Given the description of an element on the screen output the (x, y) to click on. 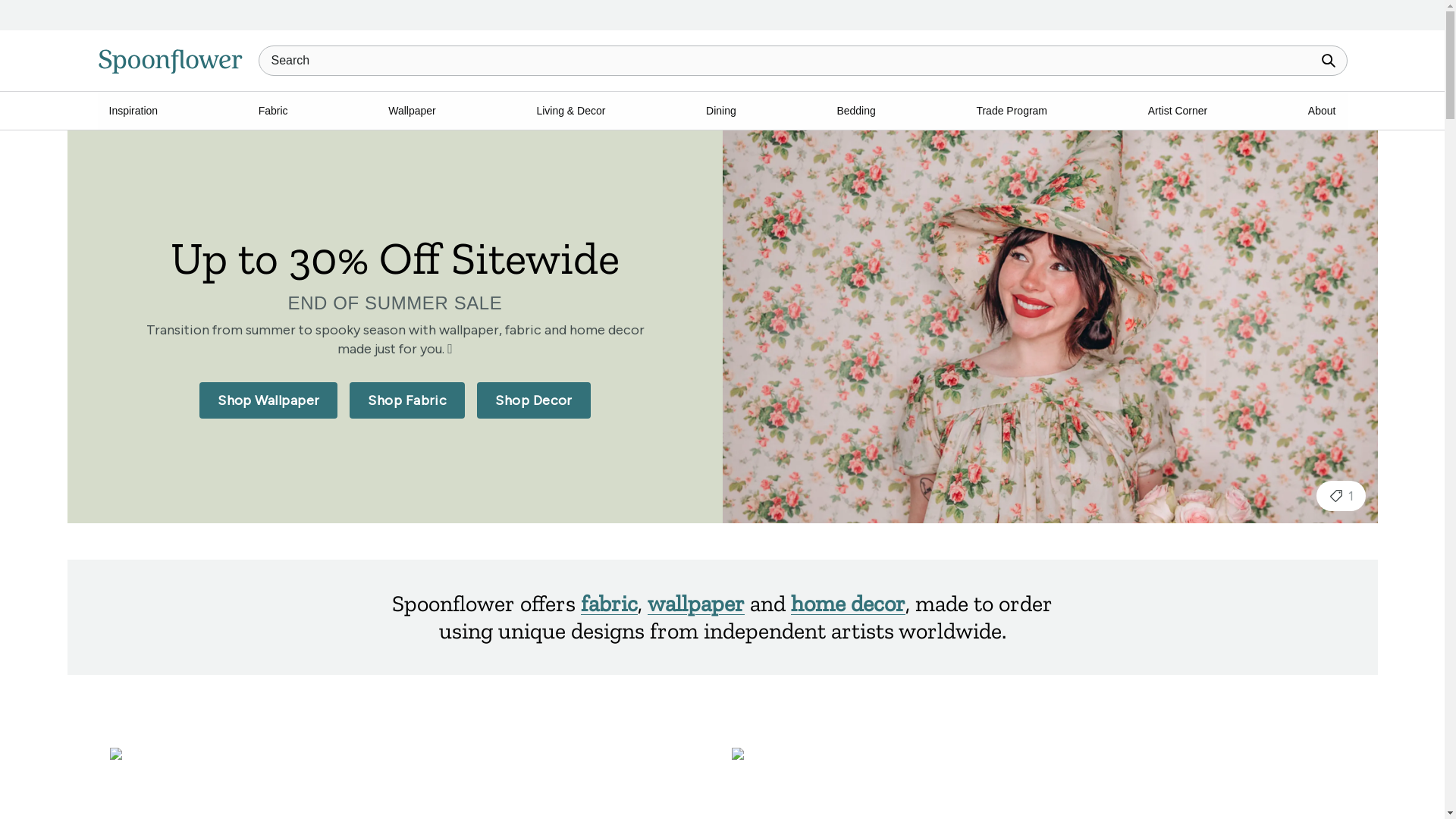
Inspiration (132, 110)
Artist Corner (1178, 110)
About (1322, 110)
Wallpaper (411, 110)
Dining (721, 110)
Trade Program (1010, 110)
Fabric (273, 110)
Bedding (855, 110)
